Given the description of an element on the screen output the (x, y) to click on. 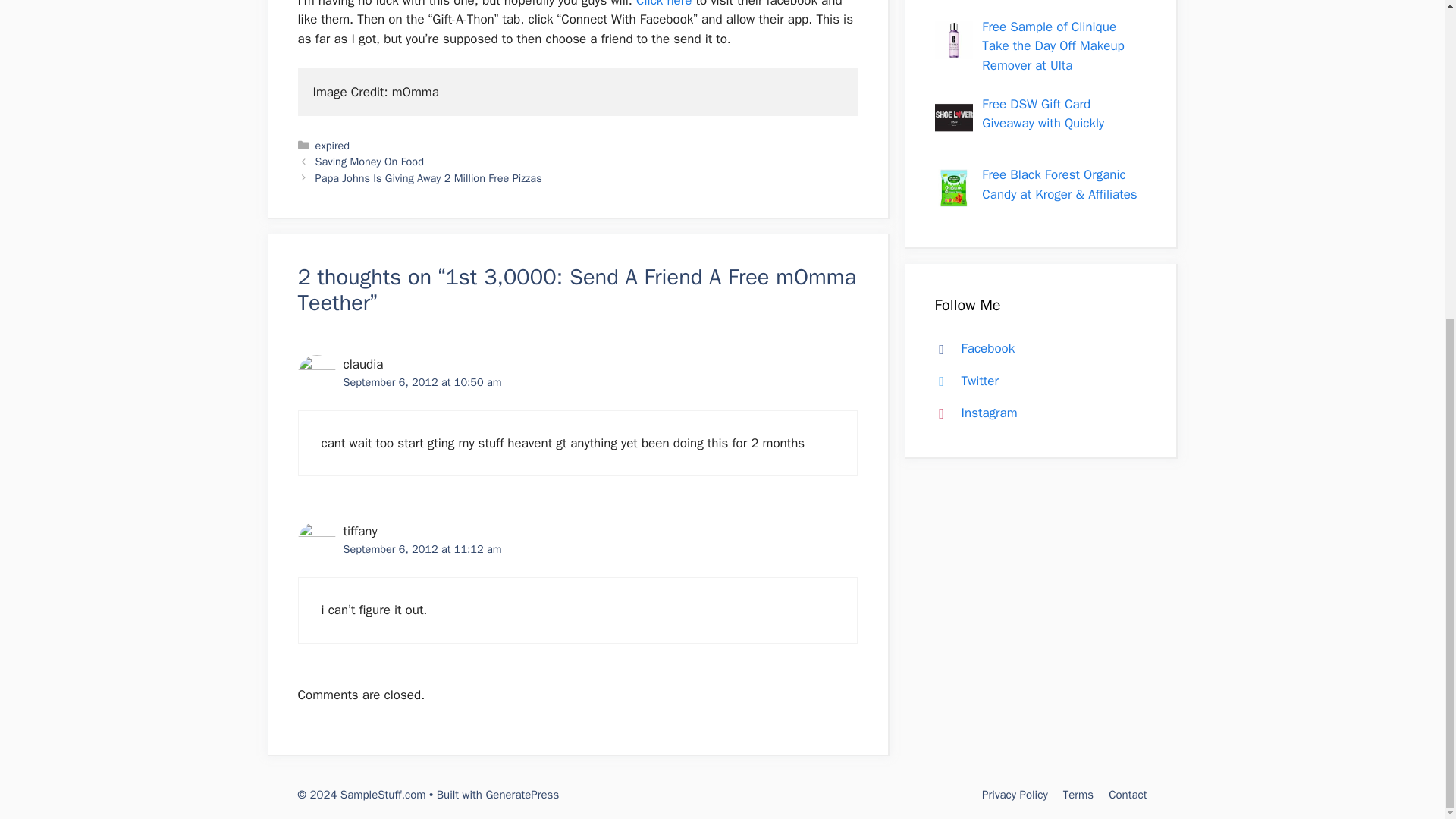
September 6, 2012 at 10:50 am (421, 382)
Twitter (962, 381)
Twitter (962, 381)
Next (428, 178)
GeneratePress (521, 794)
Click here (663, 4)
September 6, 2012 at 11:12 am (421, 549)
Instagram (972, 412)
Instagram (972, 412)
